Given the description of an element on the screen output the (x, y) to click on. 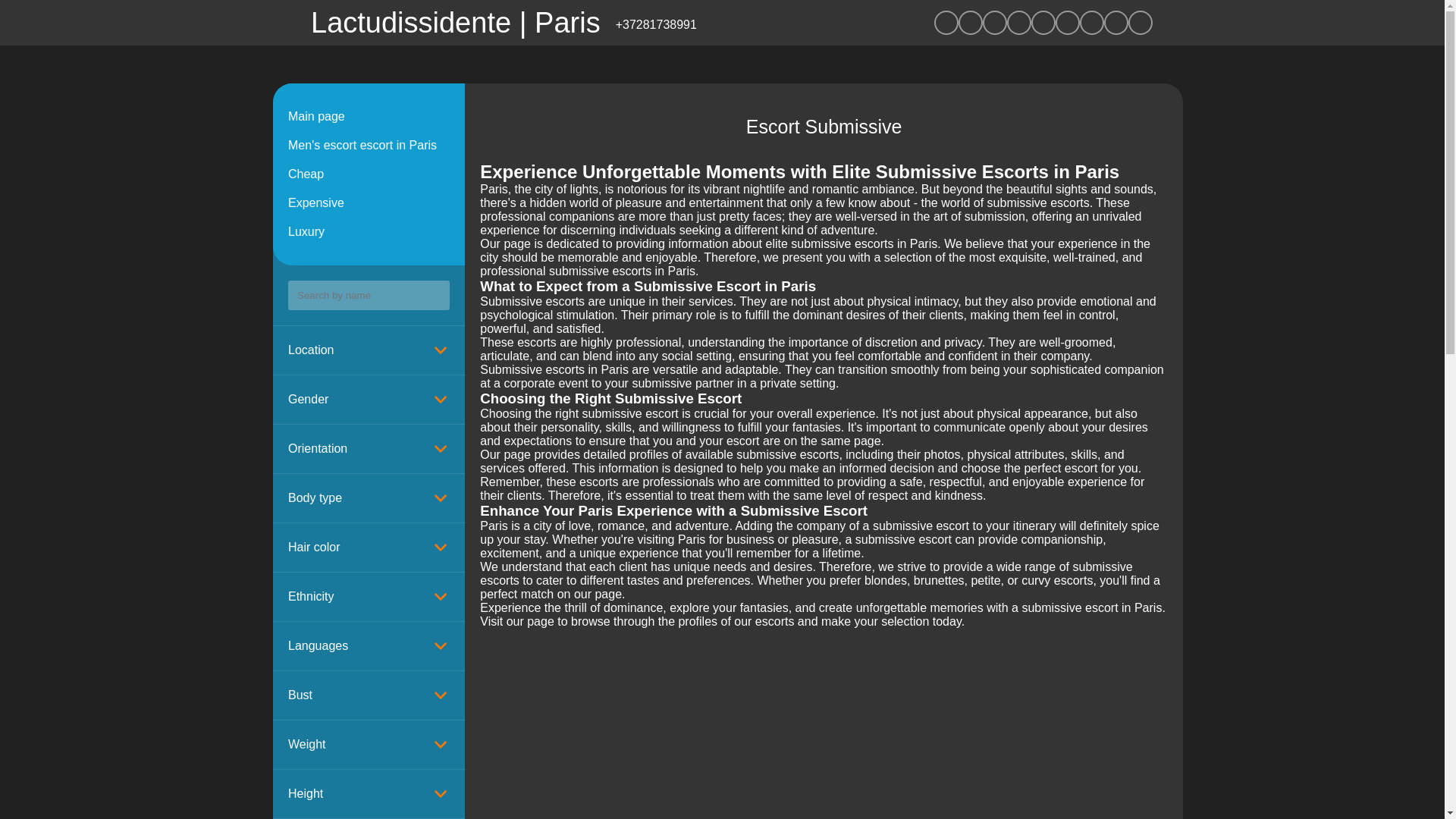
Men's escort escort in Paris (368, 145)
Cheap (368, 174)
Luxury (368, 231)
Expensive (368, 203)
Main page (368, 116)
